Given the description of an element on the screen output the (x, y) to click on. 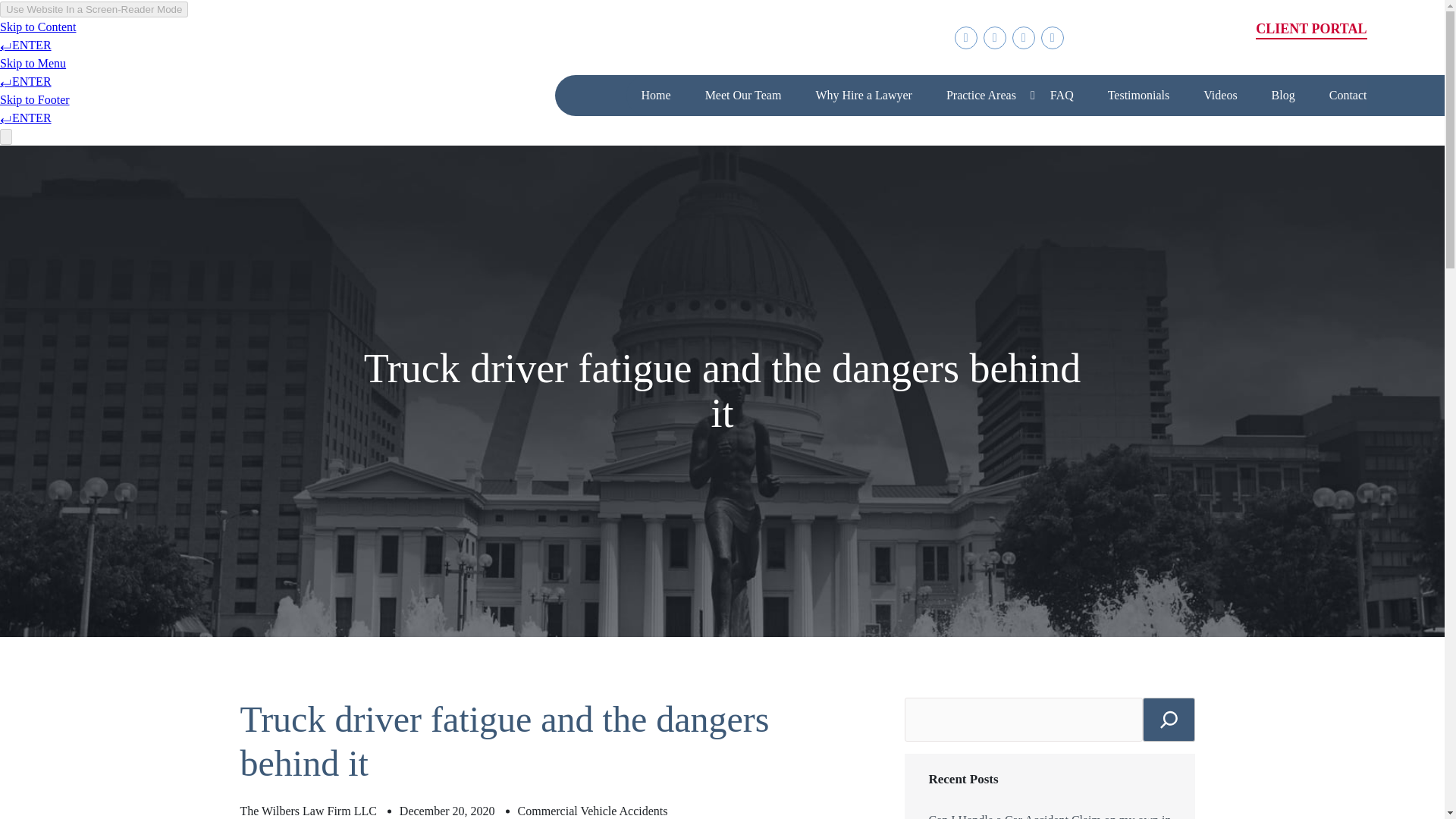
314-721-3040 (1184, 44)
Contact (1348, 95)
Practice Areas (981, 95)
Videos (1220, 95)
Truck driver fatigue and the dangers behind it (504, 740)
Commercial Vehicle Accidents (593, 810)
Home (656, 95)
The Wilbers Law Firm LLC (307, 810)
Can I Handle a Car Accident Claim on my own in Missouri? (1049, 815)
CLIENT PORTAL (1311, 30)
